Given the description of an element on the screen output the (x, y) to click on. 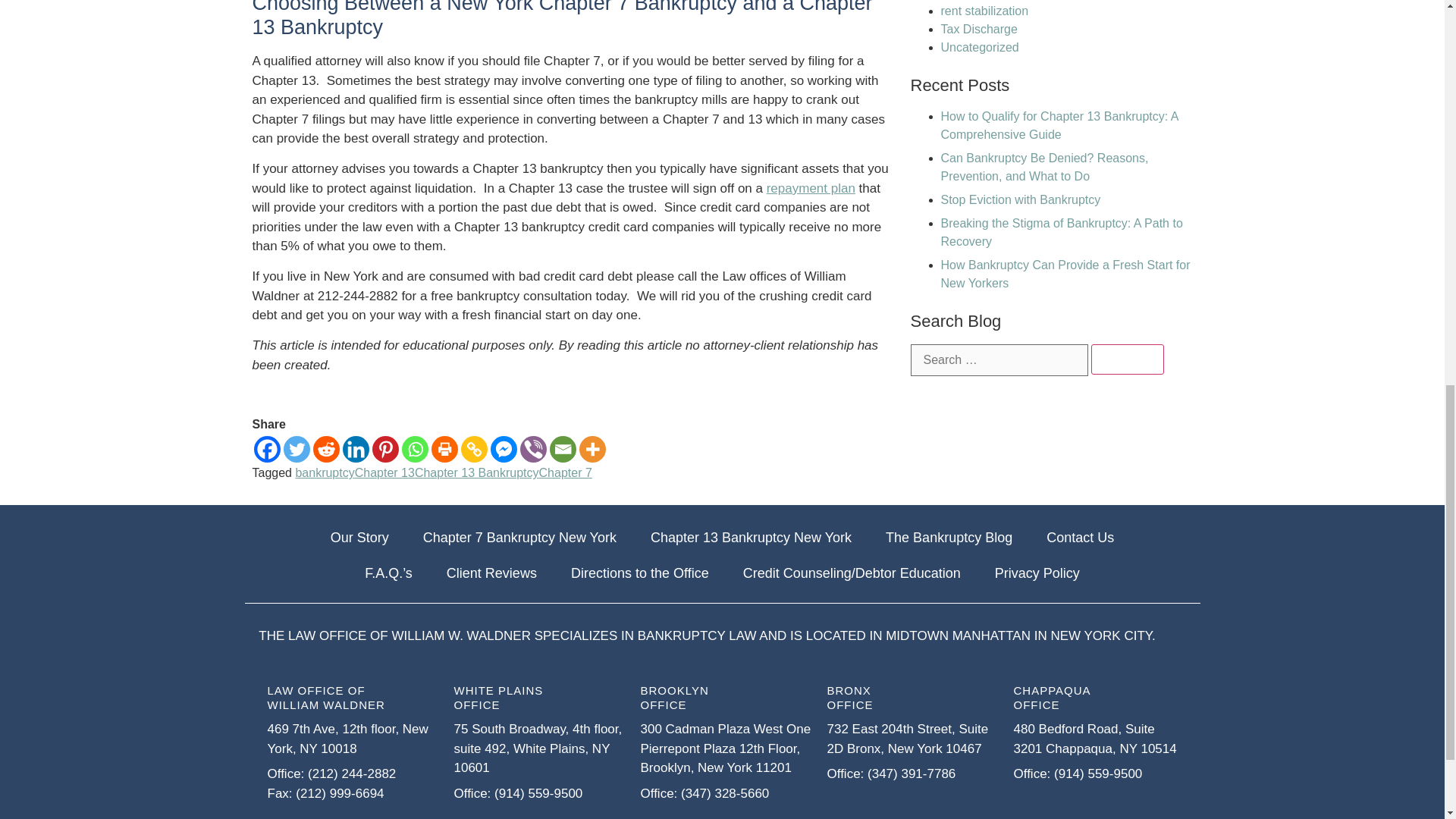
Whatsapp (414, 448)
More (592, 448)
Copy Link (474, 448)
Linkedin (355, 448)
Email (561, 448)
Pinterest (384, 448)
Reddit (326, 448)
Print (443, 448)
Search (1126, 358)
Twitter (296, 448)
